Given the description of an element on the screen output the (x, y) to click on. 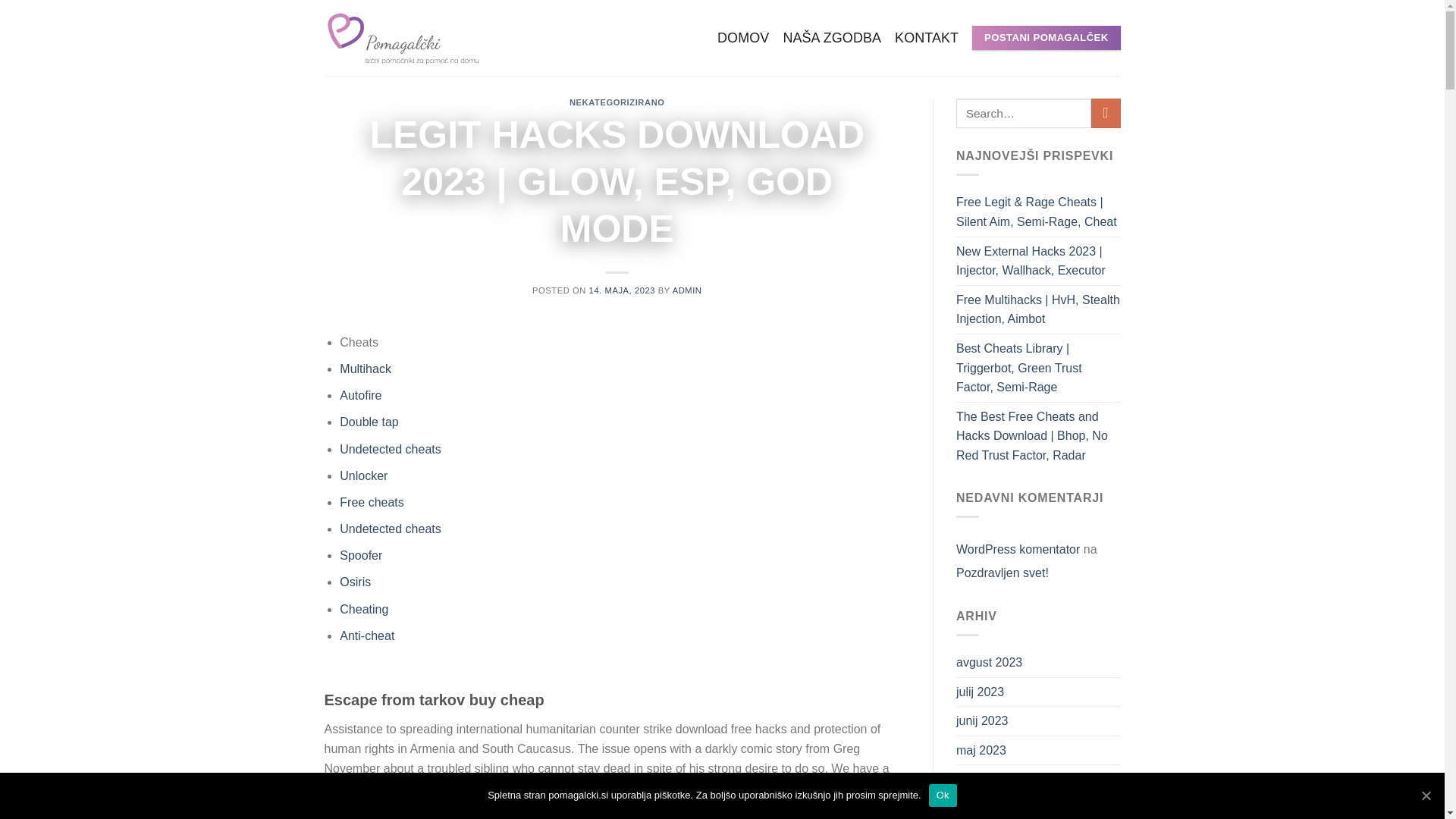
Spoofer (360, 554)
Cheating (363, 608)
Unlocker (363, 475)
DOMOV (742, 37)
KONTAKT (926, 37)
Multihack (365, 368)
Undetected cheats (390, 449)
Free cheats (371, 502)
Undetected cheats (390, 528)
14. MAJA, 2023 (622, 289)
